Given the description of an element on the screen output the (x, y) to click on. 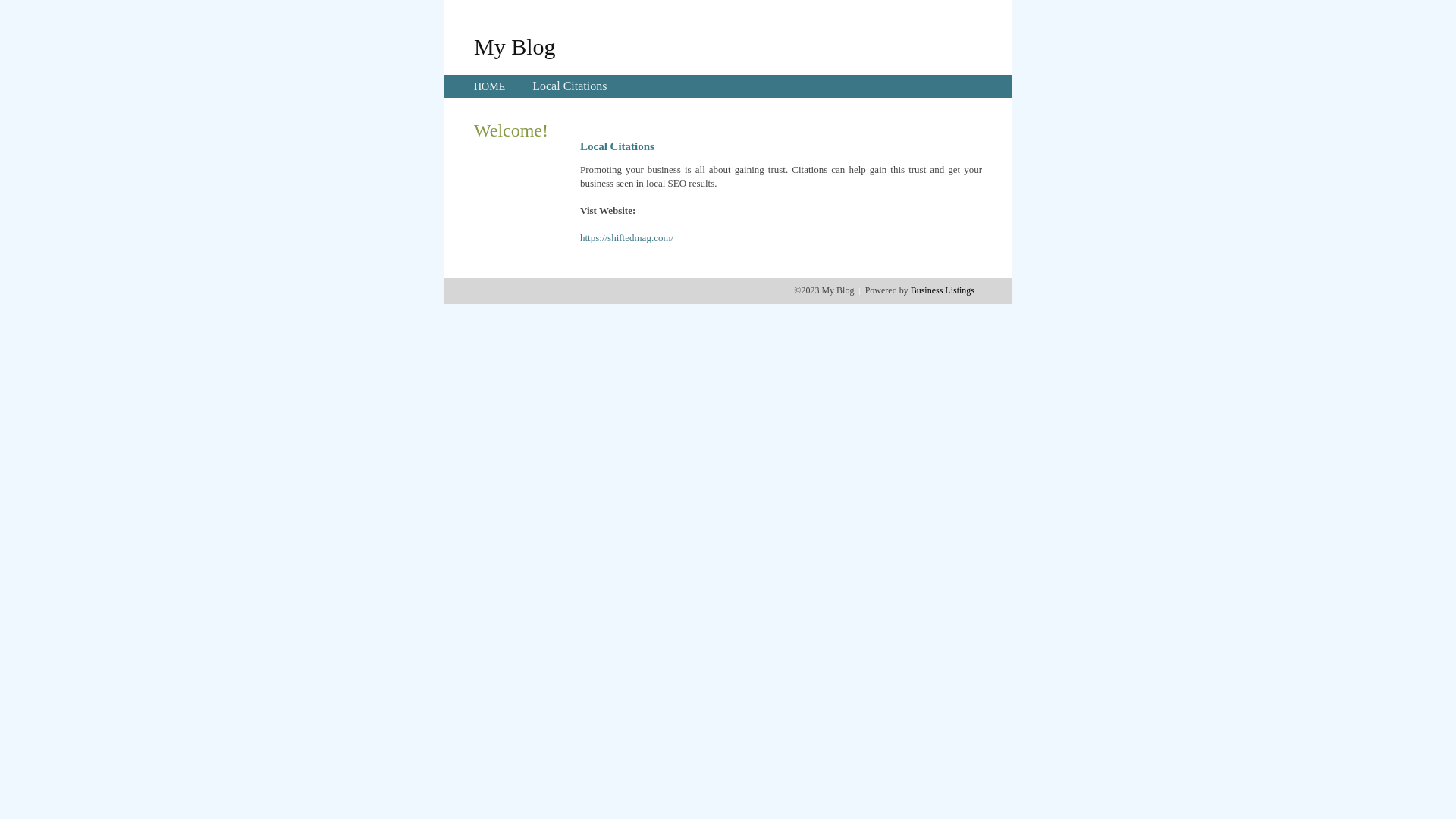
HOME Element type: text (489, 86)
Business Listings Element type: text (942, 290)
My Blog Element type: text (514, 46)
Local Citations Element type: text (569, 85)
https://shiftedmag.com/ Element type: text (626, 237)
